Given the description of an element on the screen output the (x, y) to click on. 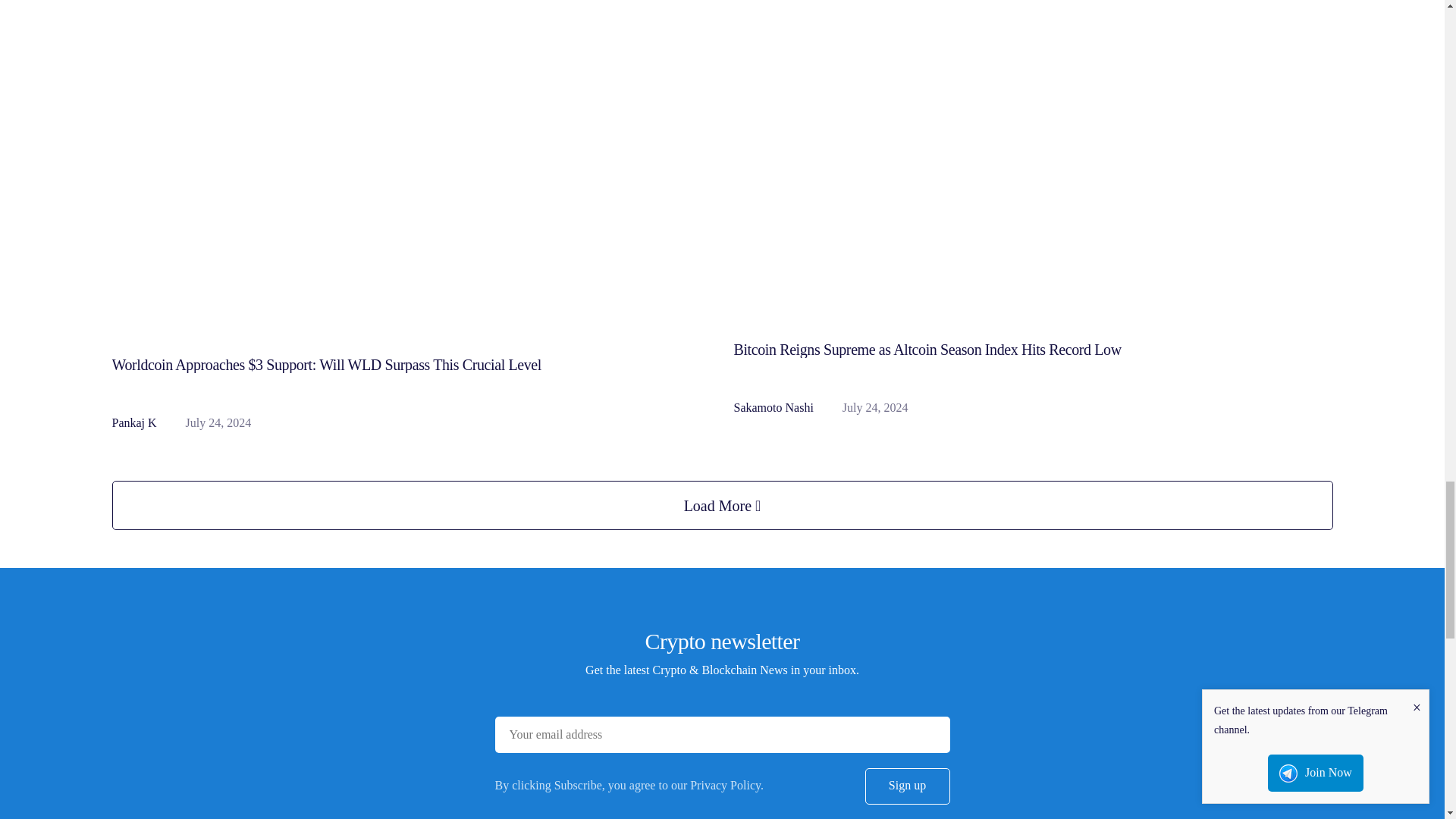
Sign up (906, 786)
